Given the description of an element on the screen output the (x, y) to click on. 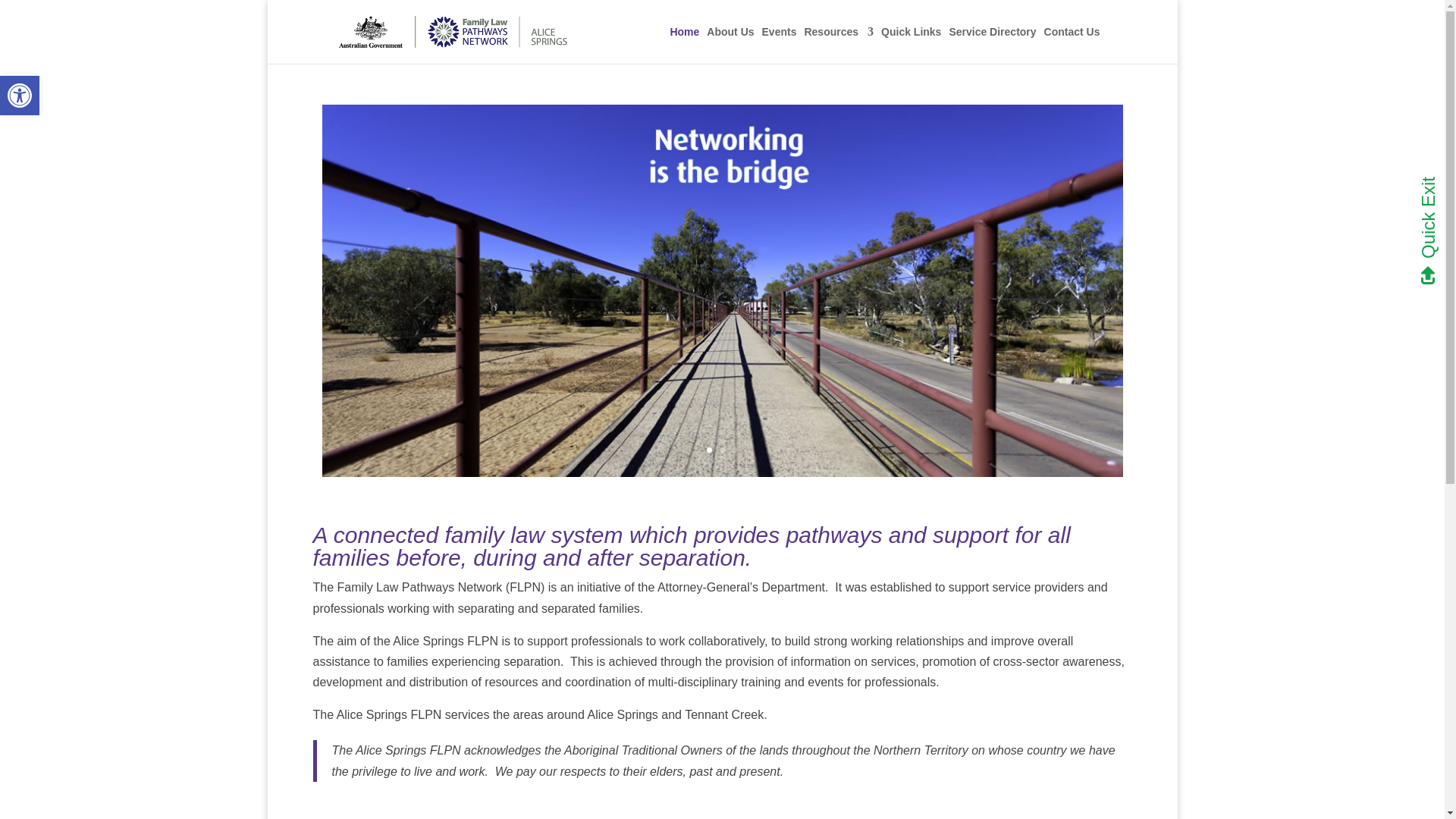
Quick Links Element type: text (911, 44)
2 Element type: text (721, 449)
Events Element type: text (779, 44)
Resources Element type: text (838, 44)
Service Directory Element type: text (991, 44)
Contact Us Element type: text (1072, 44)
About Us Element type: text (729, 44)
1 Element type: text (709, 449)
Home Element type: text (684, 44)
Open toolbar
Accessibility Tools Element type: text (19, 95)
3 Element type: text (734, 449)
